Given the description of an element on the screen output the (x, y) to click on. 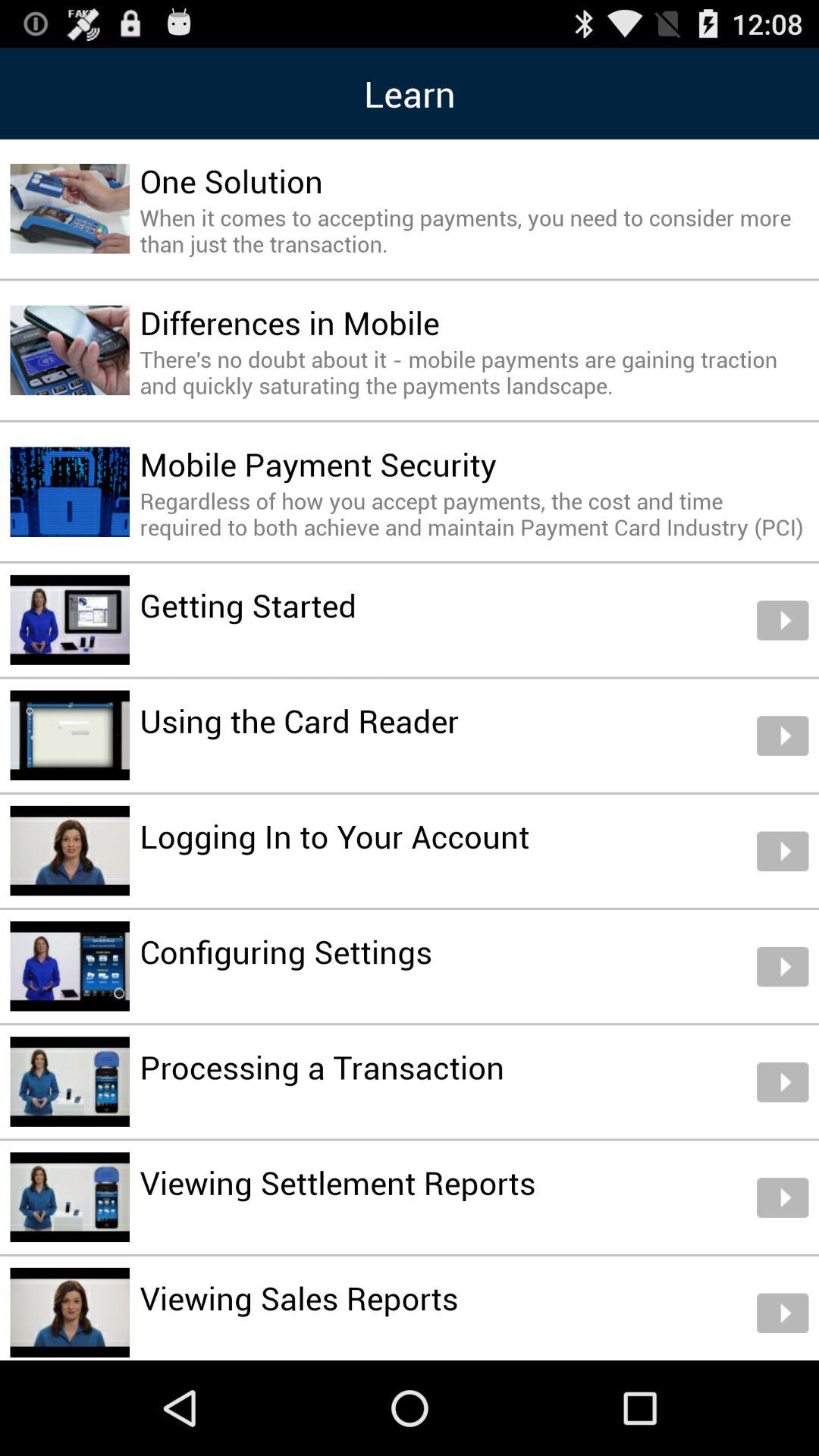
launch the item above the when it comes item (231, 180)
